Given the description of an element on the screen output the (x, y) to click on. 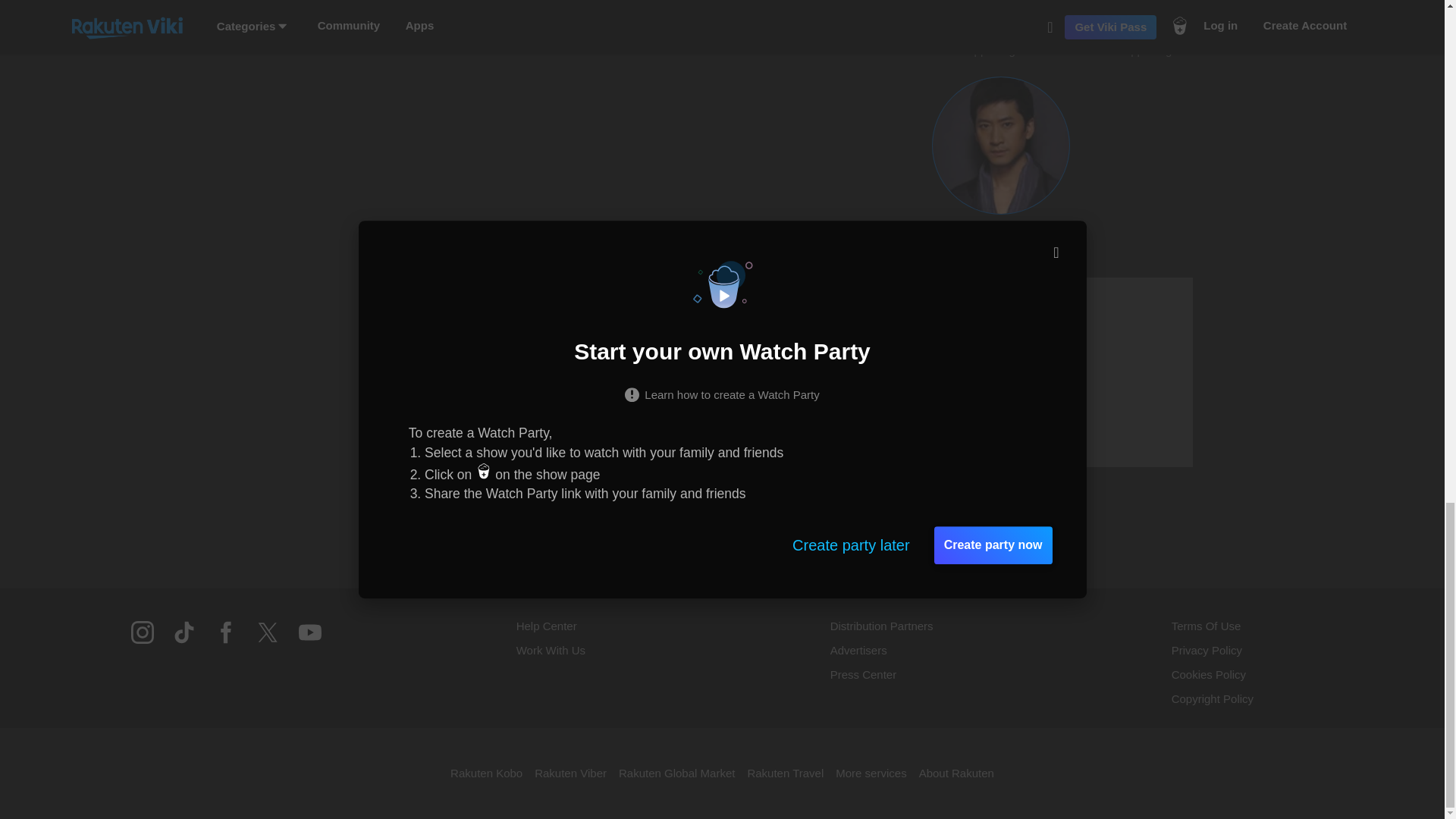
Follow Viki on Facebook (226, 641)
Follow Viki on YouTube (309, 641)
Follow Viki on Twitter (267, 641)
3rd party ad content (1000, 29)
Follow Viki on Tiktok (1157, 29)
Follow Viki on Instagram (1078, 371)
